Given the description of an element on the screen output the (x, y) to click on. 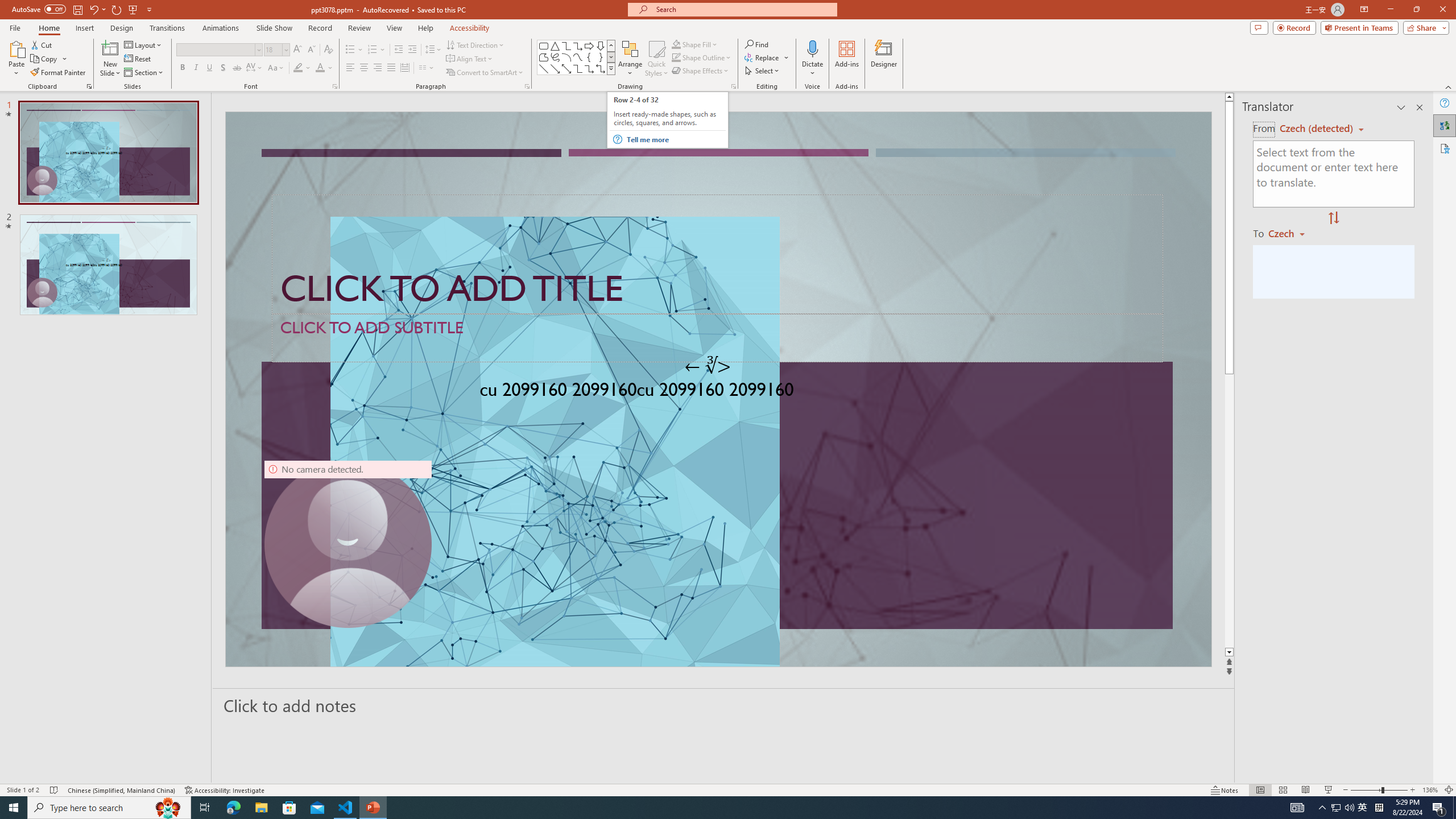
Shape Outline Green, Accent 1 (675, 56)
Strikethrough (237, 67)
Bold (182, 67)
TextBox 7 (707, 366)
Left Brace (589, 57)
Clear Formatting (327, 49)
Arrow: Right (589, 45)
Curve (577, 57)
Translator (1444, 125)
Format Painter (58, 72)
Layout (143, 44)
